Given the description of an element on the screen output the (x, y) to click on. 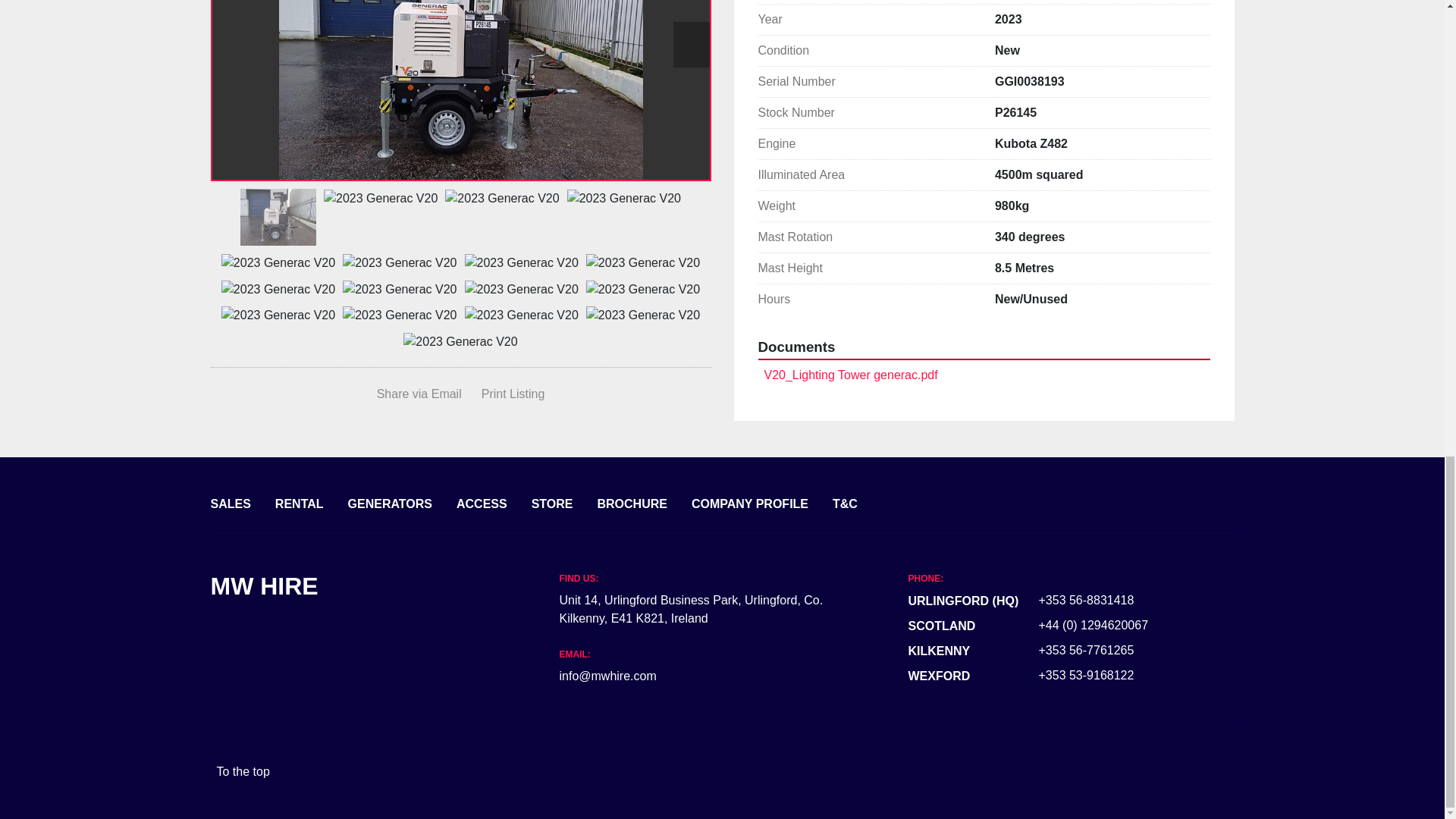
SALES (230, 504)
RENTAL (299, 504)
